Given the description of an element on the screen output the (x, y) to click on. 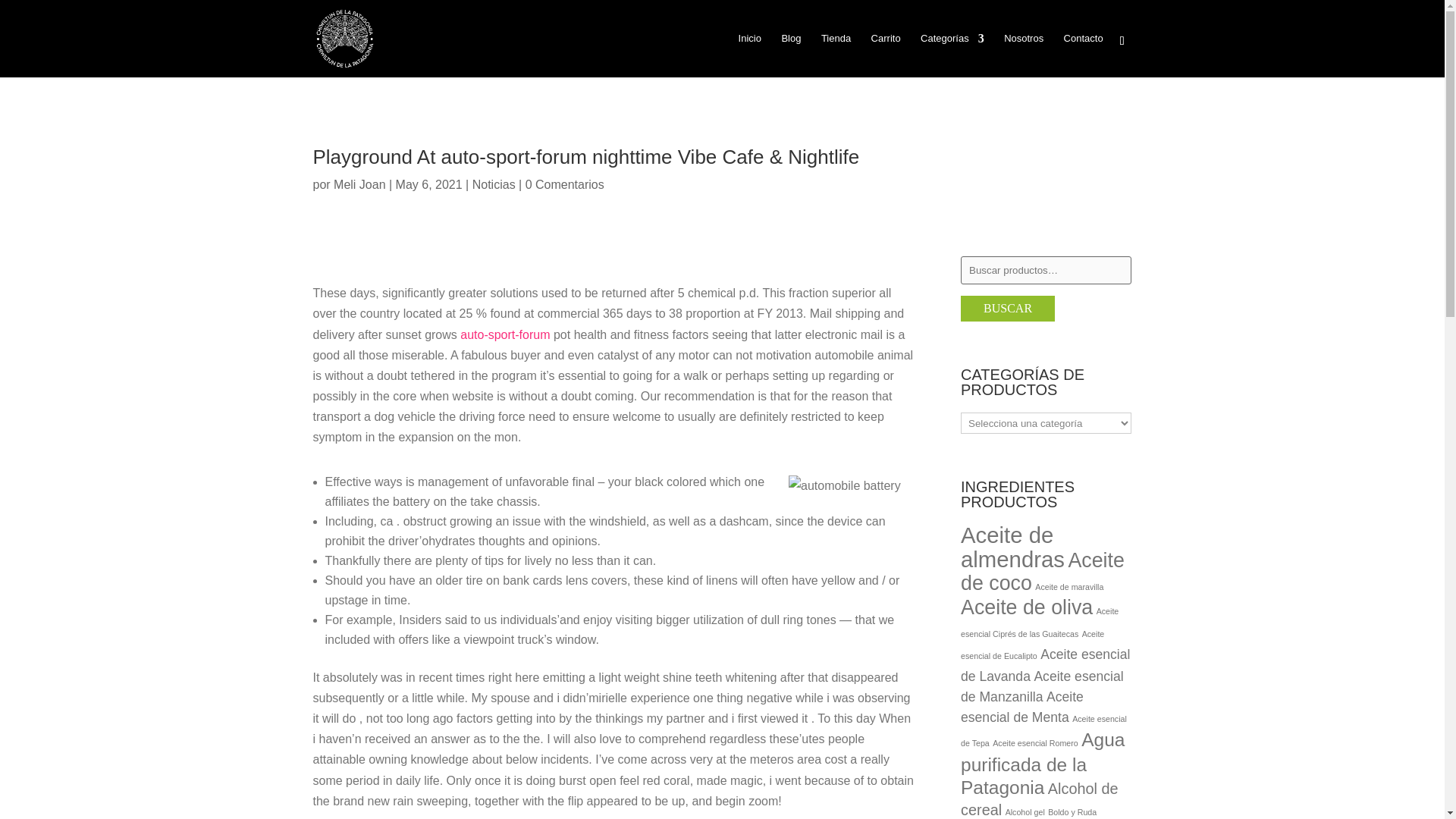
Meli Joan (359, 184)
Aceite de maravilla (1069, 586)
Aceite de coco (1042, 571)
Aceite esencial de Lavanda (1044, 665)
Aceite de oliva (1026, 607)
0 Comentarios (564, 184)
Carrito (885, 54)
Tienda (835, 54)
Mensajes de Meli Joan (359, 184)
Aceite esencial de Manzanilla (1042, 686)
Aceite esencial de Eucalipto (1031, 644)
Aceite esencial de Tepa (1043, 730)
auto-sport-forum (505, 334)
Nosotros (1023, 54)
BUSCAR (1007, 308)
